Given the description of an element on the screen output the (x, y) to click on. 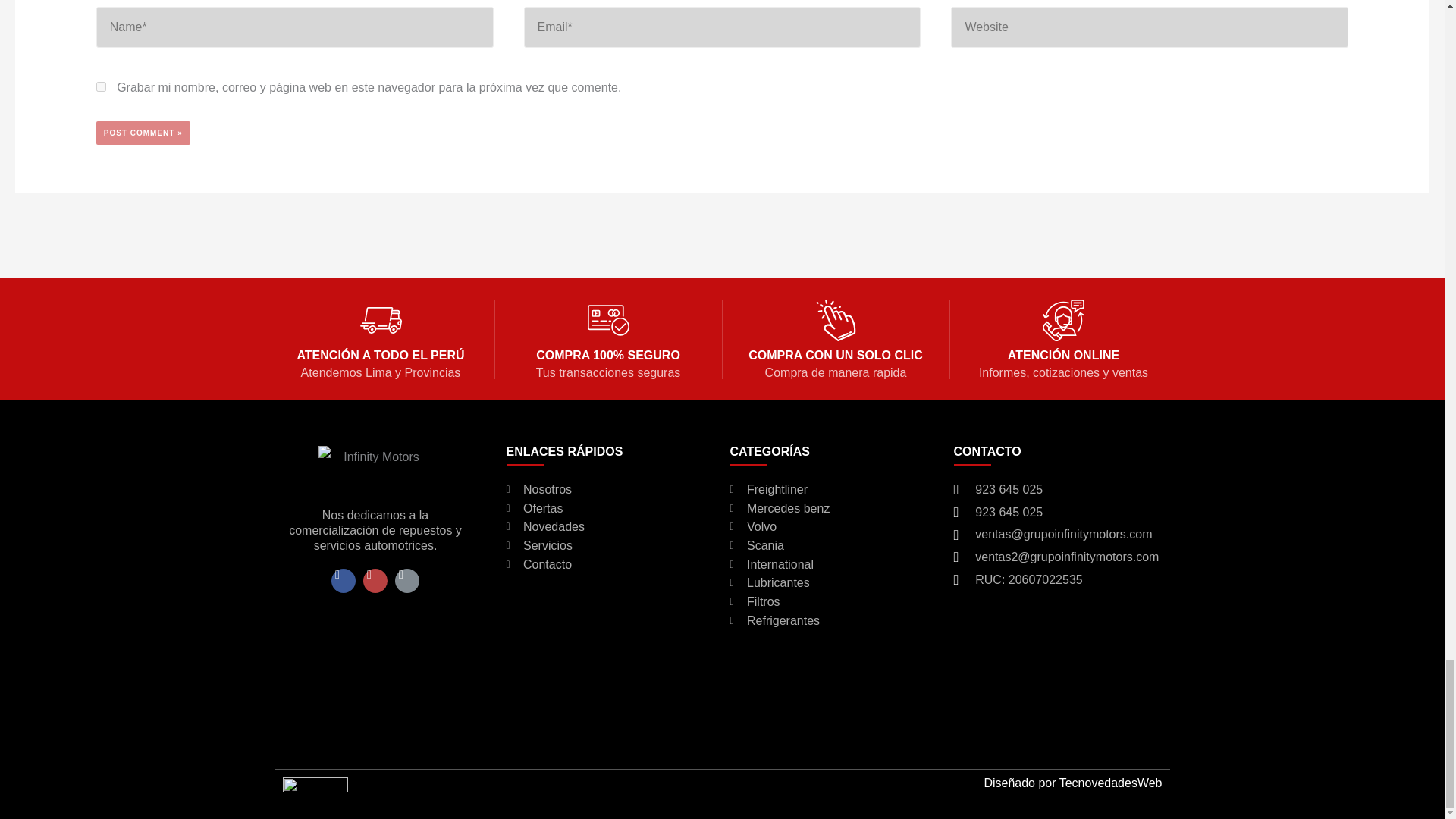
yes (101, 86)
